Given the description of an element on the screen output the (x, y) to click on. 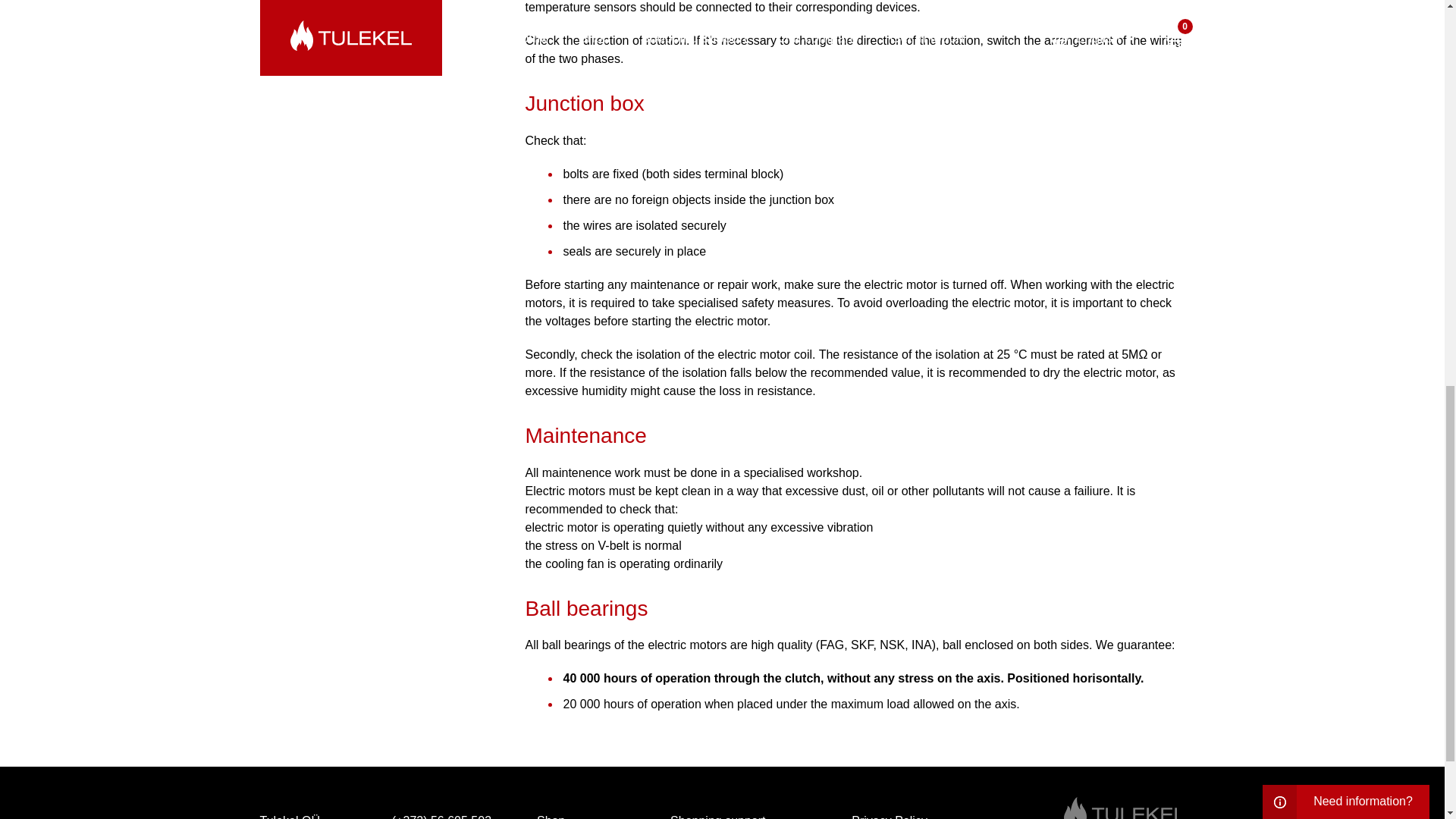
Privacy Policy (888, 812)
Shopping support (717, 812)
Shop (550, 812)
